Given the description of an element on the screen output the (x, y) to click on. 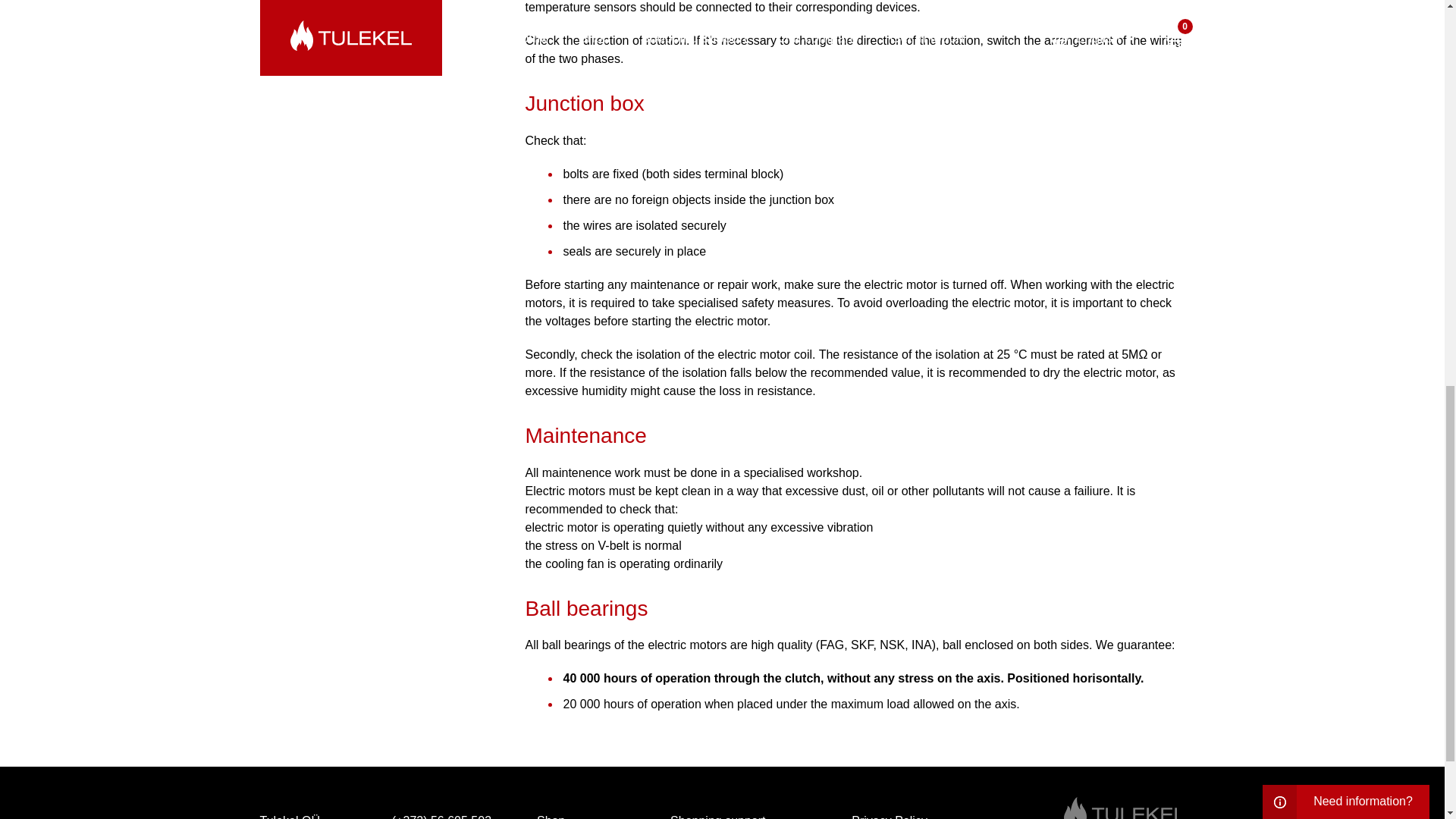
Privacy Policy (888, 812)
Shopping support (717, 812)
Shop (550, 812)
